Given the description of an element on the screen output the (x, y) to click on. 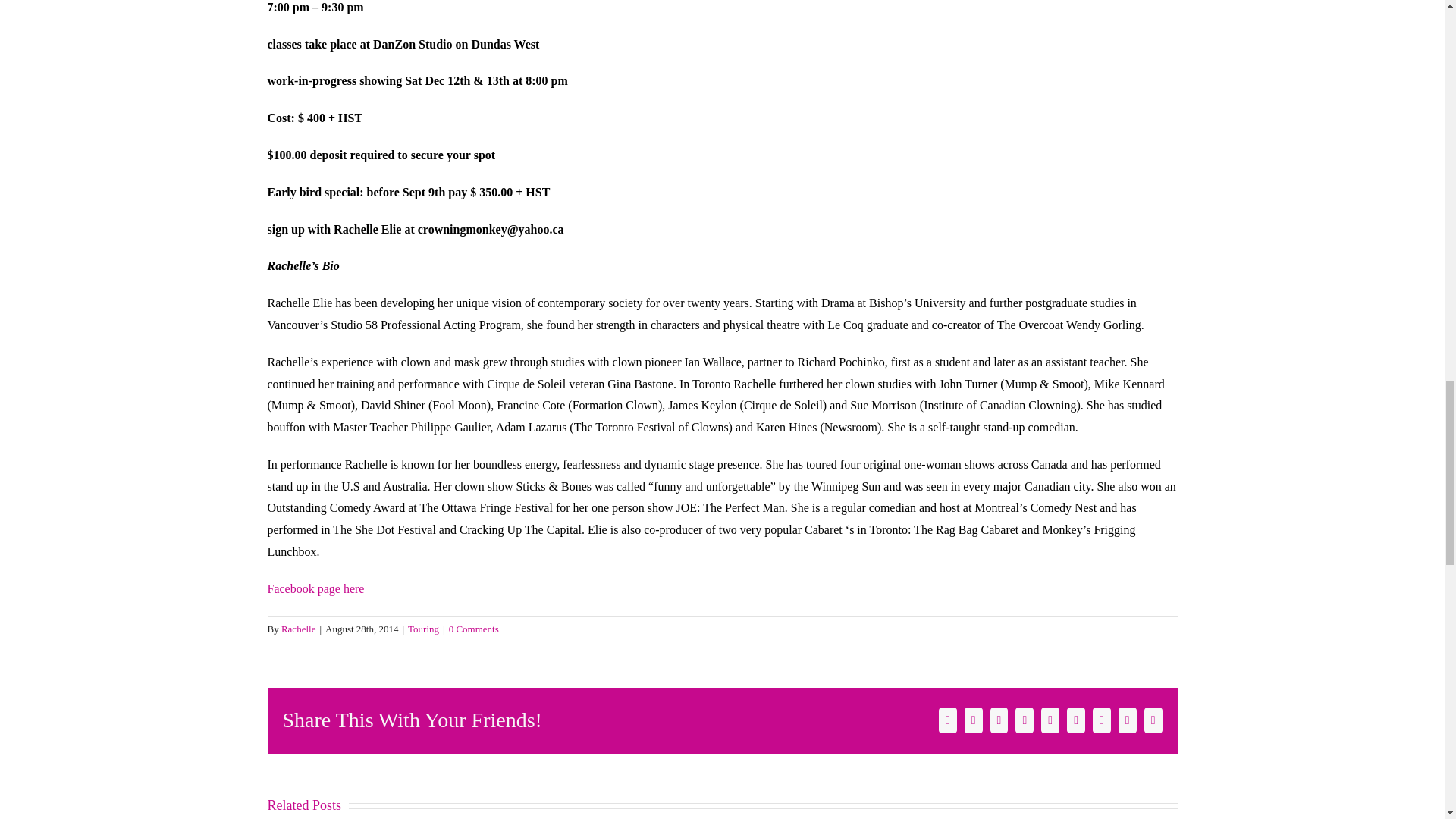
Posts by Rachelle (298, 628)
Rachelle (298, 628)
0 Comments (473, 628)
Facebook page here (315, 588)
Touring (423, 628)
